Given the description of an element on the screen output the (x, y) to click on. 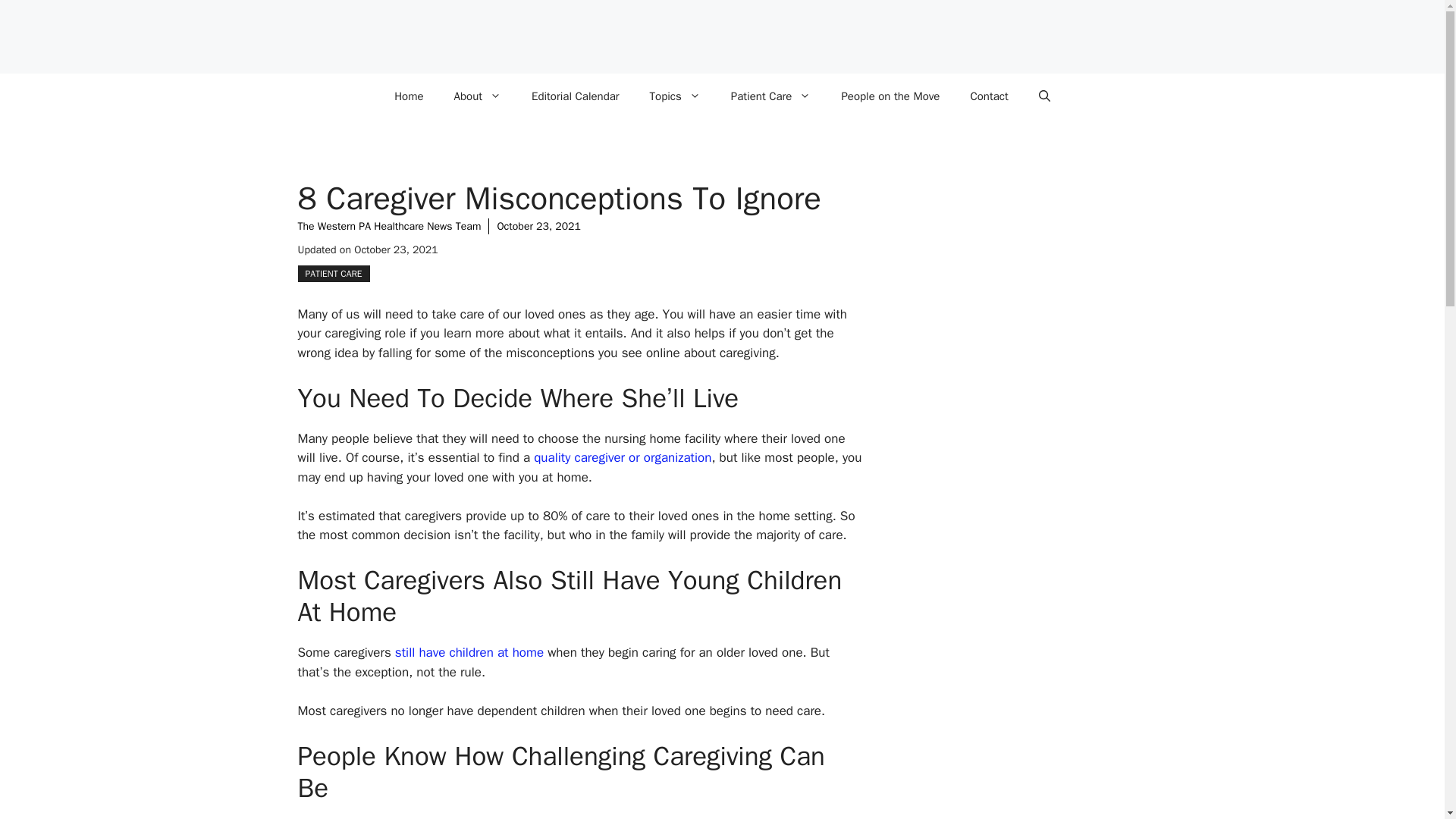
People on the Move (890, 95)
quality caregiver or organization (622, 457)
Topics (675, 95)
About (477, 95)
Editorial Calendar (575, 95)
The Western PA Healthcare News Team (388, 226)
PATIENT CARE (333, 273)
Home (408, 95)
Contact (989, 95)
Patient Care (771, 95)
